Given the description of an element on the screen output the (x, y) to click on. 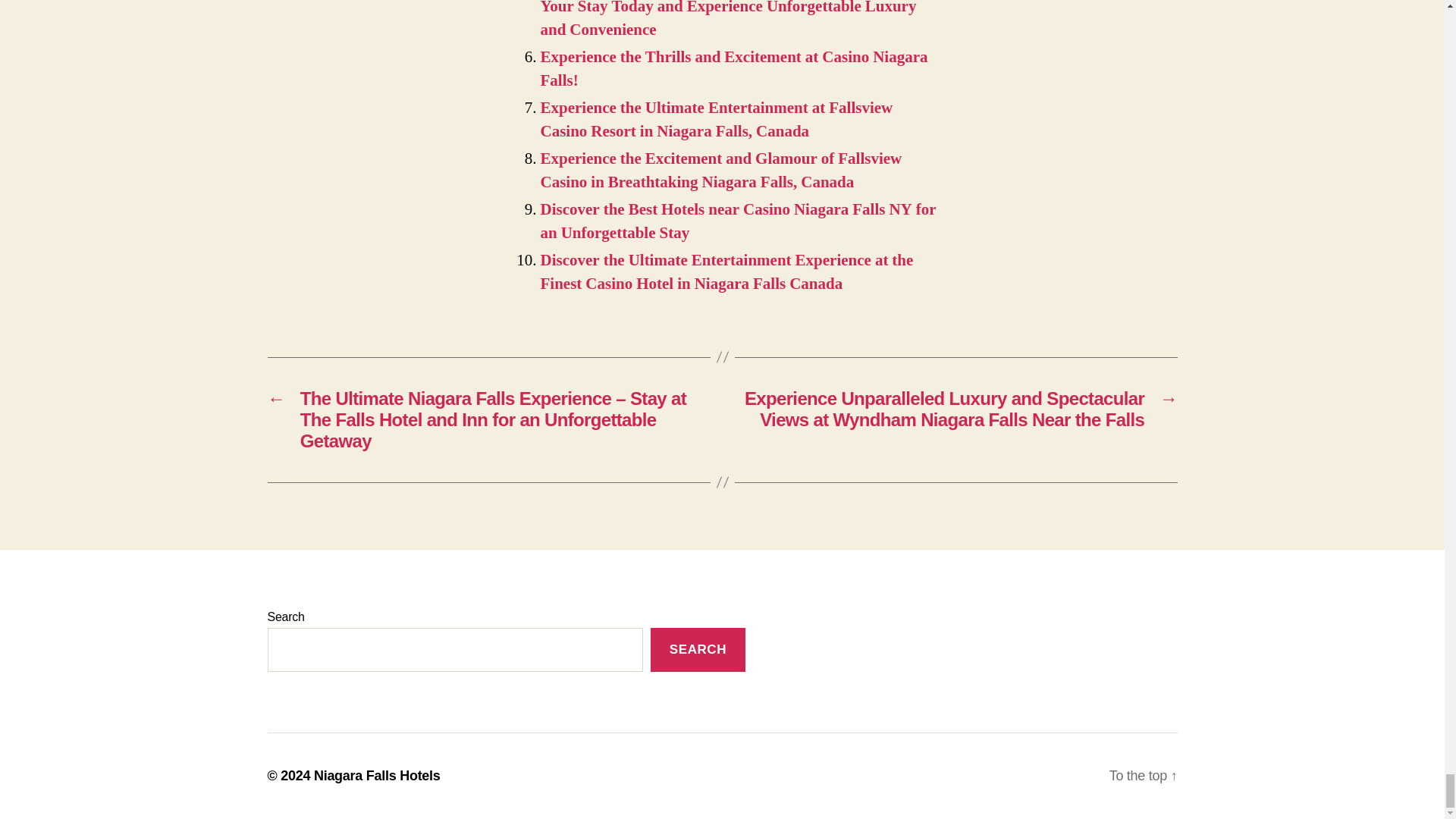
Niagara Falls Hotels (377, 775)
SEARCH (697, 650)
